Given the description of an element on the screen output the (x, y) to click on. 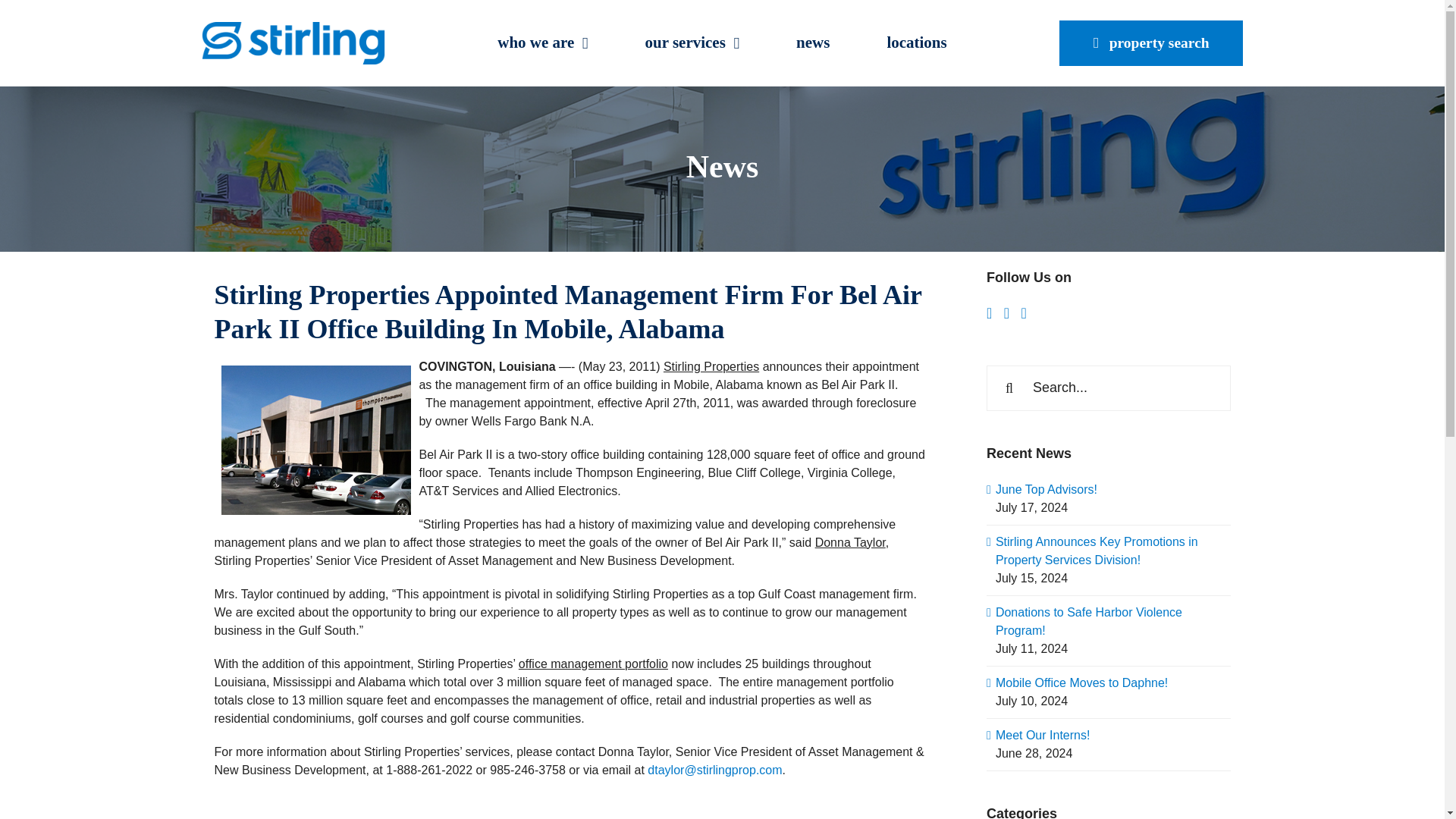
Mobile Office Moves to Daphne! (1081, 682)
Donations to Safe Harbor Violence Program! (1088, 621)
property search (1151, 43)
locations (916, 43)
our services (692, 43)
who we are (542, 43)
Meet Our Interns! (1042, 735)
June Top Advisors! (1046, 489)
Bel Air Office II (315, 440)
Property Search (1151, 43)
